Given the description of an element on the screen output the (x, y) to click on. 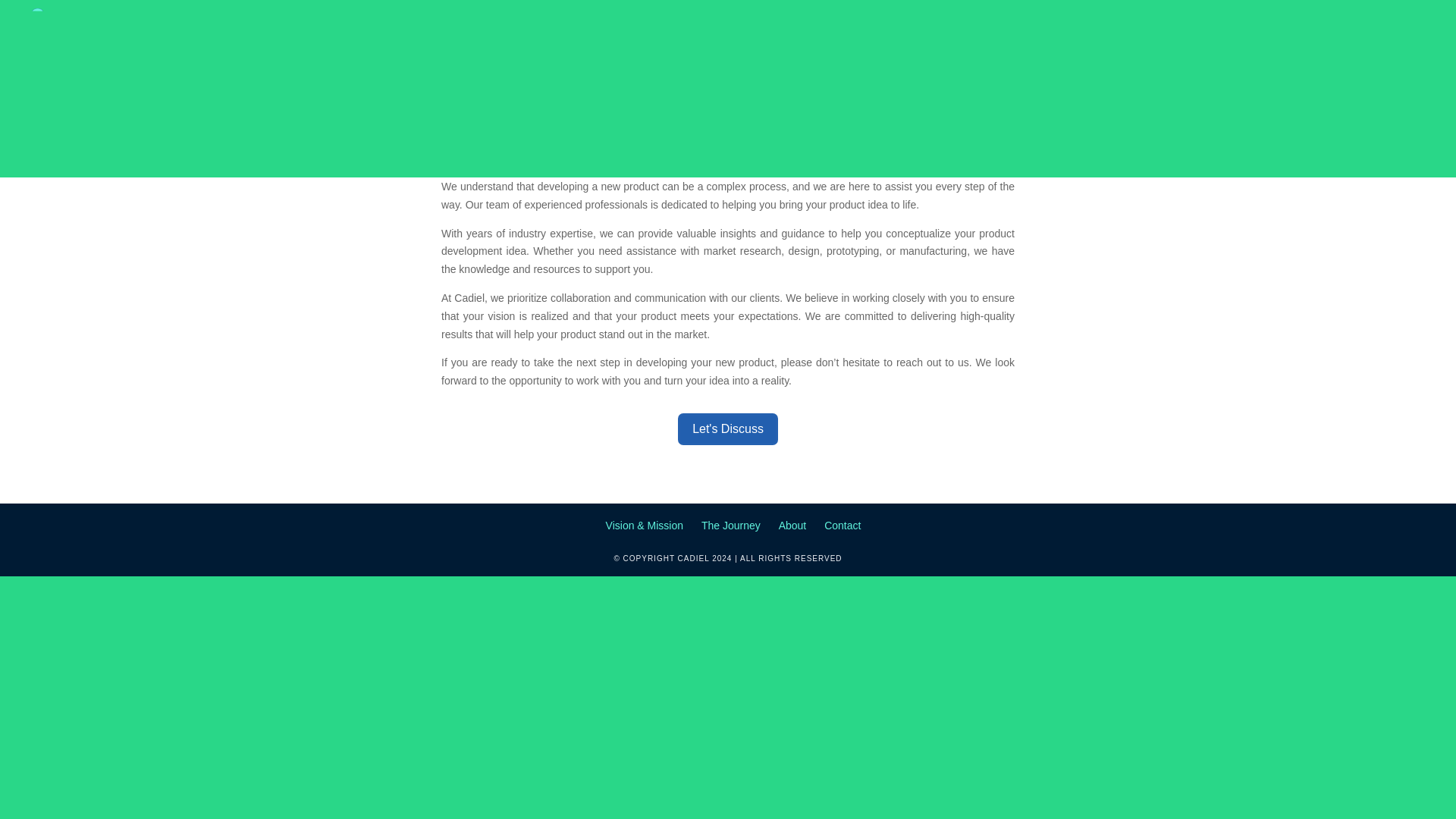
Contact (841, 524)
About (792, 524)
The Journey (731, 524)
Let's Discuss (727, 429)
